Given the description of an element on the screen output the (x, y) to click on. 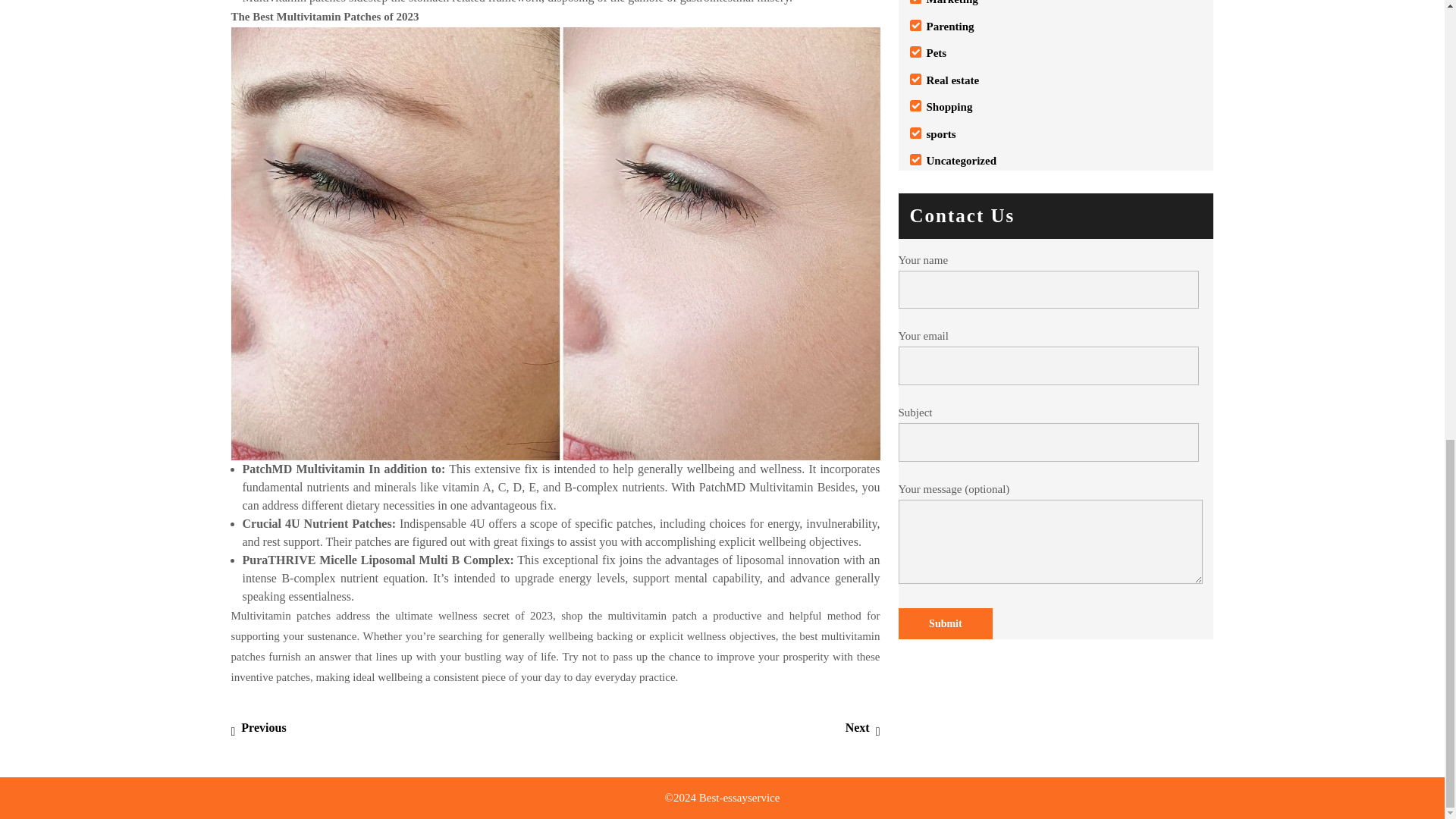
Parenting (950, 26)
Real estate (952, 80)
Pets (936, 52)
Marketing (257, 727)
Submit (952, 2)
